Given the description of an element on the screen output the (x, y) to click on. 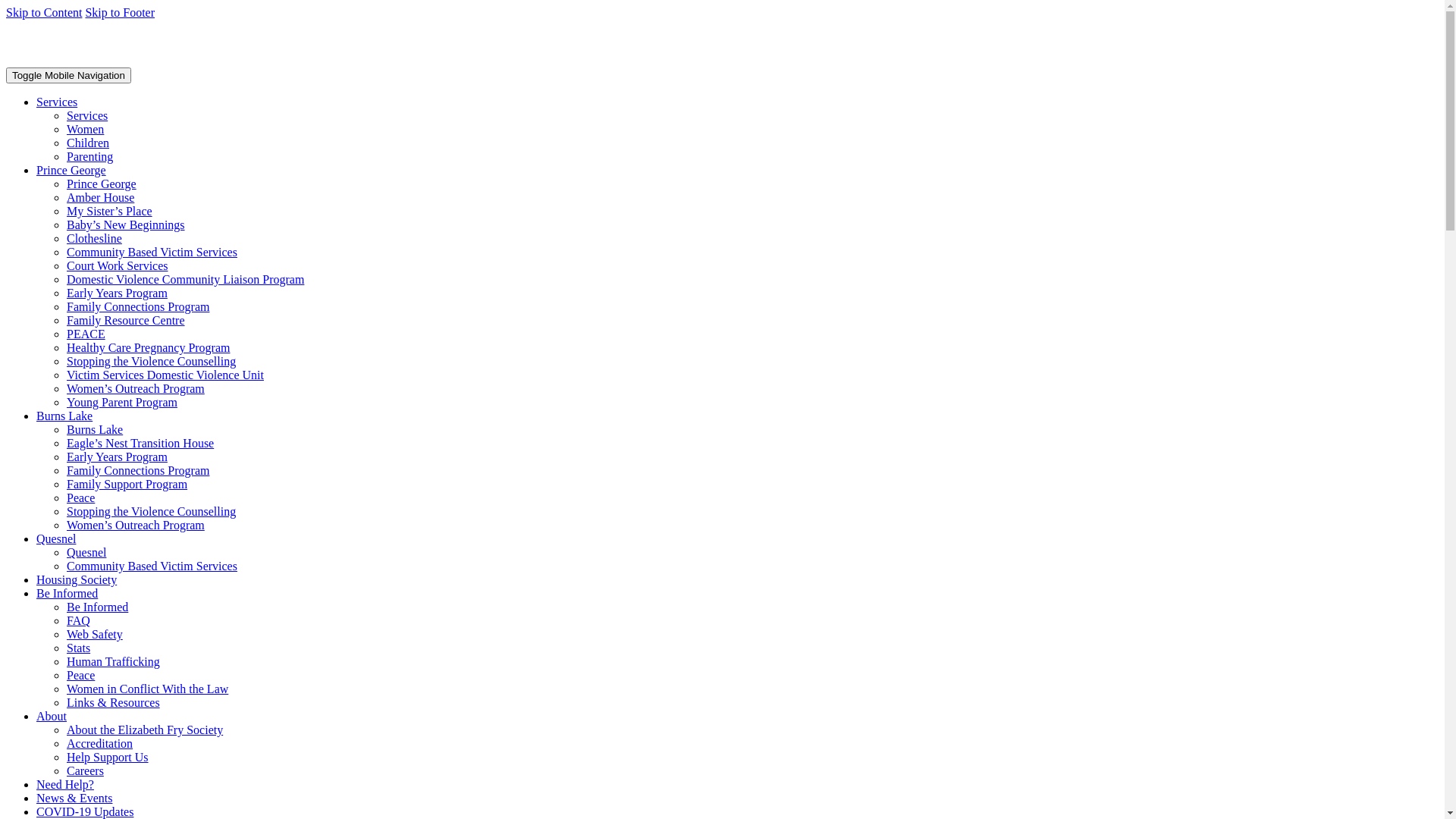
Quesnel Element type: text (55, 538)
Burns Lake Element type: text (64, 415)
Family Connections Program Element type: text (137, 470)
COVID-19 Updates Element type: text (84, 811)
Healthy Care Pregnancy Program Element type: text (147, 347)
Family Connections Program Element type: text (137, 306)
Domestic Violence Community Liaison Program Element type: text (185, 279)
Links & Resources Element type: text (113, 702)
Prince George Element type: text (101, 183)
Services Element type: text (56, 101)
Be Informed Element type: text (66, 592)
Quesnel Element type: text (86, 552)
Early Years Program Element type: text (116, 292)
Community Based Victim Services Element type: text (151, 251)
Skip to Content Element type: text (43, 12)
Stats Element type: text (78, 647)
Women Element type: text (84, 128)
Court Work Services Element type: text (117, 265)
Stopping the Violence Counselling Element type: text (150, 360)
Housing Society Element type: text (76, 579)
Amber House Element type: text (100, 197)
Prince George Element type: text (71, 169)
Young Parent Program Element type: text (121, 401)
Children Element type: text (87, 142)
Web Safety Element type: text (94, 633)
Careers Element type: text (84, 770)
Be Informed Element type: text (97, 606)
Parenting Element type: text (89, 156)
Need Help? Element type: text (65, 784)
About the Elizabeth Fry Society Element type: text (144, 729)
News & Events Element type: text (74, 797)
Community Based Victim Services Element type: text (151, 565)
Clothesline Element type: text (94, 238)
Family Support Program Element type: text (126, 483)
Accreditation Element type: text (99, 743)
Early Years Program Element type: text (116, 456)
Services Element type: text (86, 115)
FAQ Element type: text (78, 620)
About Element type: text (51, 715)
Stopping the Violence Counselling Element type: text (150, 511)
Peace Element type: text (80, 674)
Help Support Us Element type: text (107, 756)
Human Trafficking Element type: text (113, 661)
Women in Conflict With the Law Element type: text (147, 688)
Peace Element type: text (80, 497)
Victim Services Domestic Violence Unit Element type: text (164, 374)
Skip to Footer Element type: text (119, 12)
Family Resource Centre Element type: text (125, 319)
PEACE Element type: text (85, 333)
Toggle Mobile Navigation Element type: text (68, 75)
Burns Lake Element type: text (94, 429)
